Given the description of an element on the screen output the (x, y) to click on. 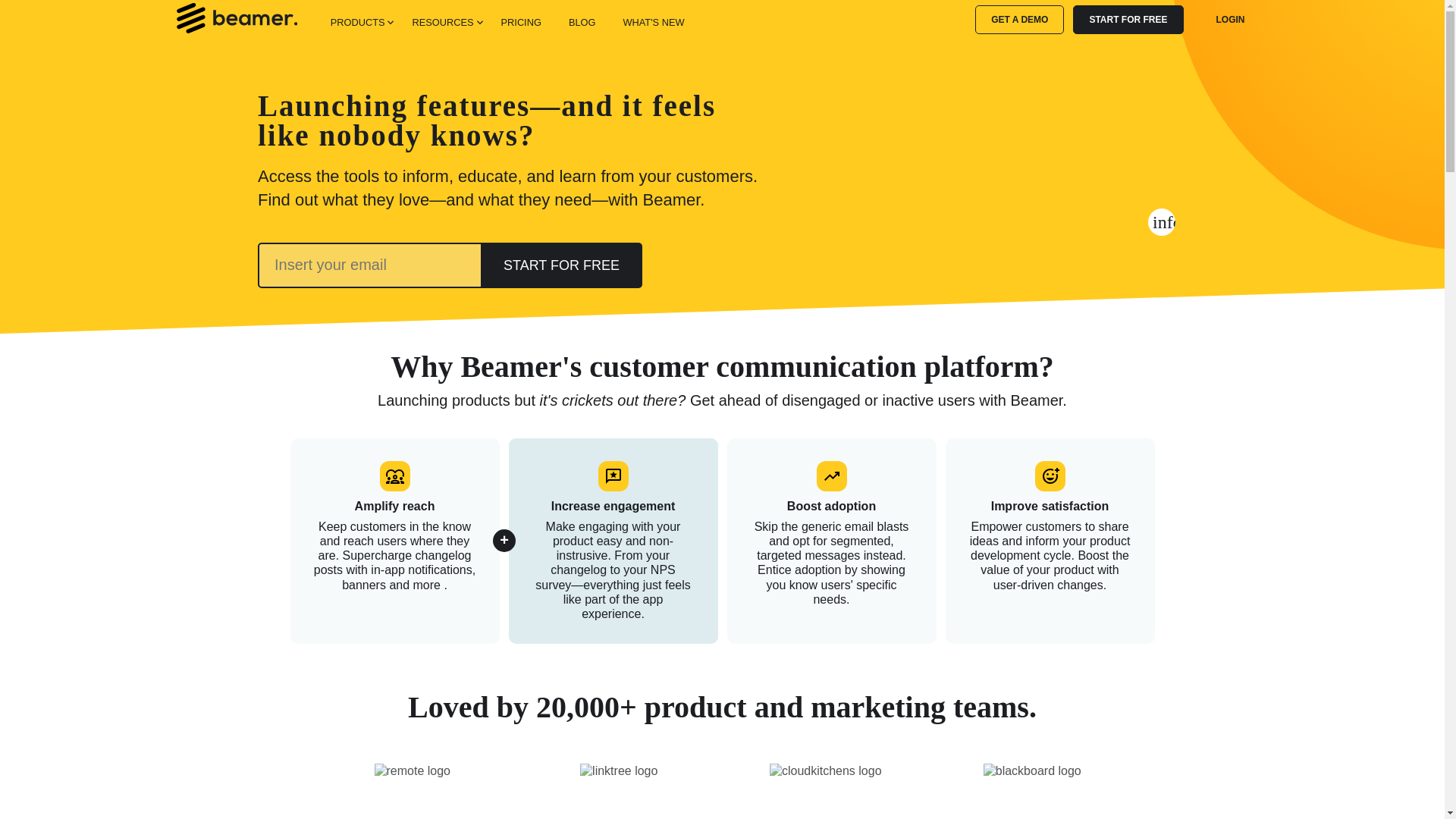
START FOR FREE (1127, 19)
PRODUCTS (357, 20)
WHAT'S NEW (652, 20)
RESOURCES (442, 20)
PRICING (521, 20)
BLOG (582, 20)
LOGIN (1230, 19)
START FOR FREE (561, 265)
GET A DEMO (1019, 19)
